Given the description of an element on the screen output the (x, y) to click on. 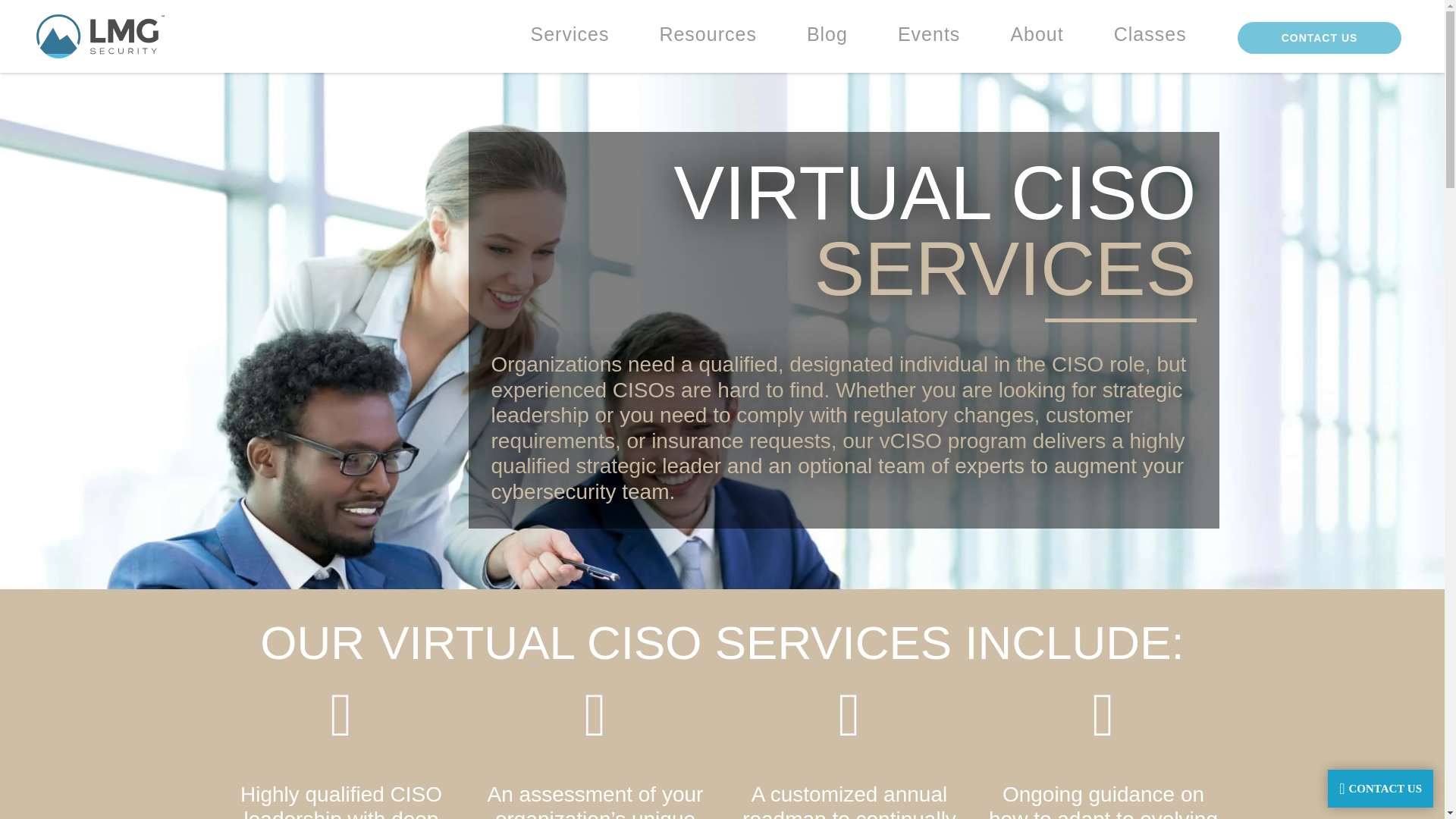
Services (569, 33)
LMG Security (100, 36)
